Given the description of an element on the screen output the (x, y) to click on. 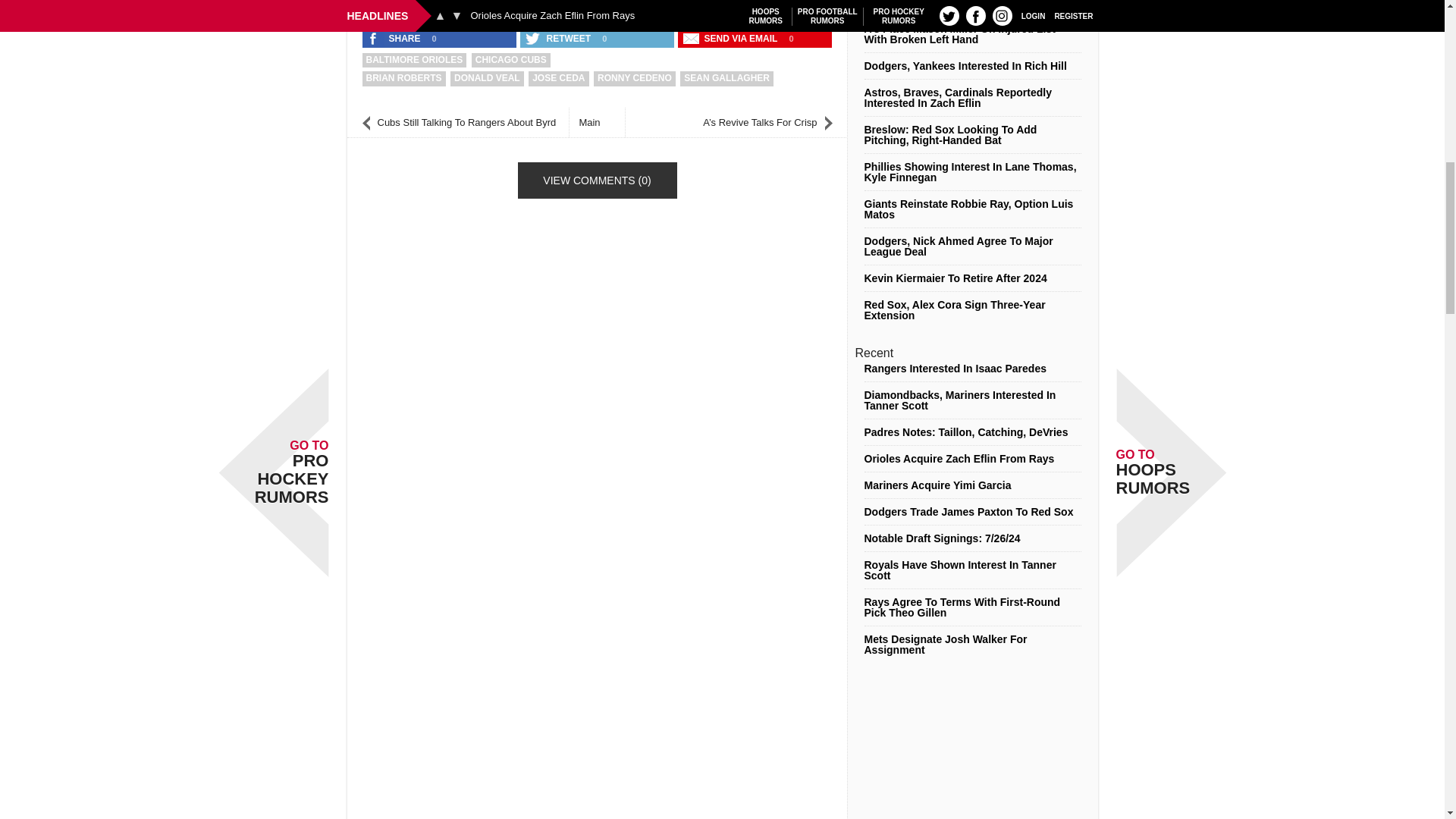
Share 'Cubs Did Not Offer Ceda' on Facebook (395, 38)
Send Cubs Did Not Offer Ceda with an email (732, 38)
Retweet 'Cubs Did Not Offer Ceda' on Twitter (558, 38)
